Given the description of an element on the screen output the (x, y) to click on. 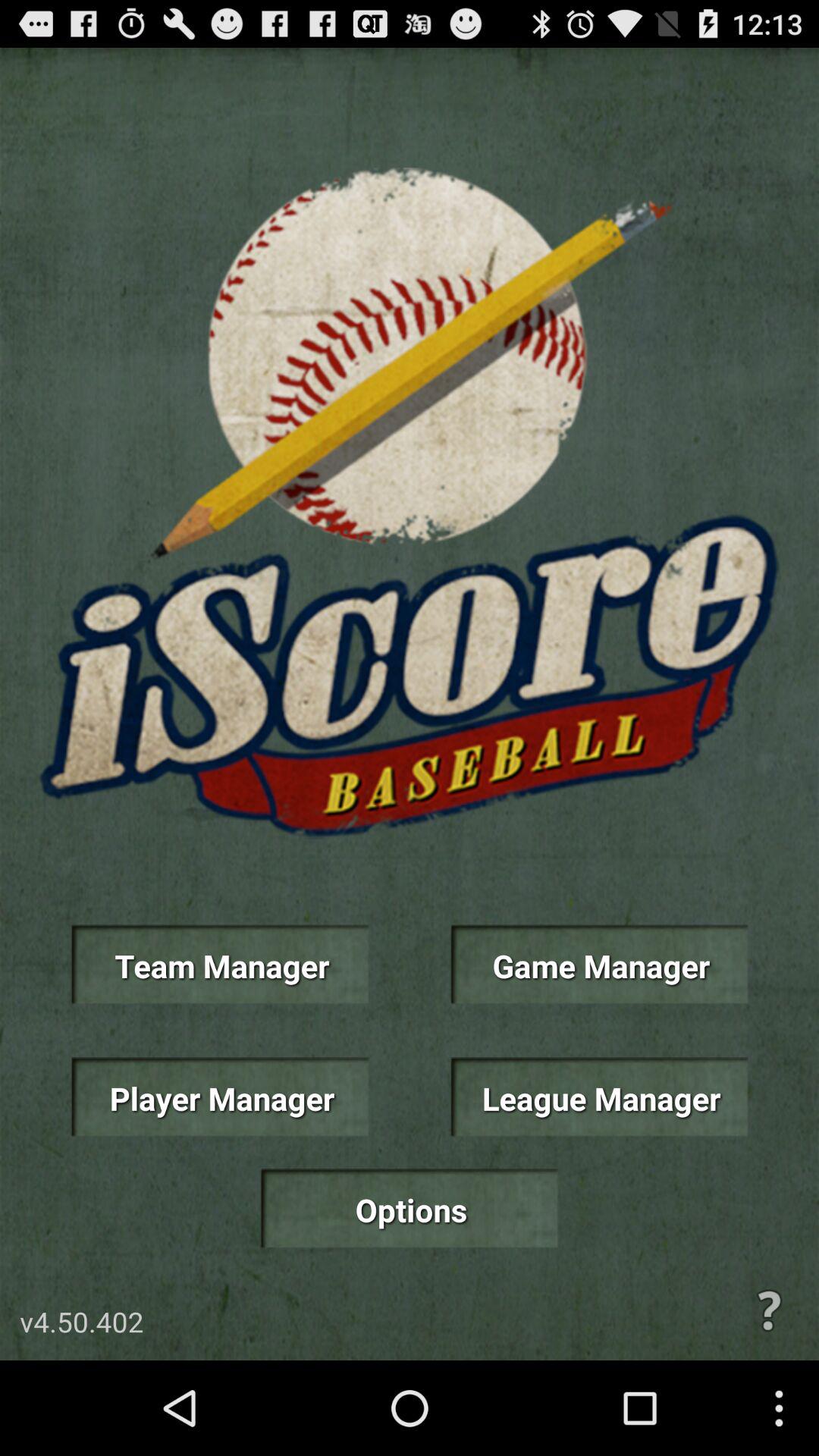
jump until game manager (598, 964)
